Given the description of an element on the screen output the (x, y) to click on. 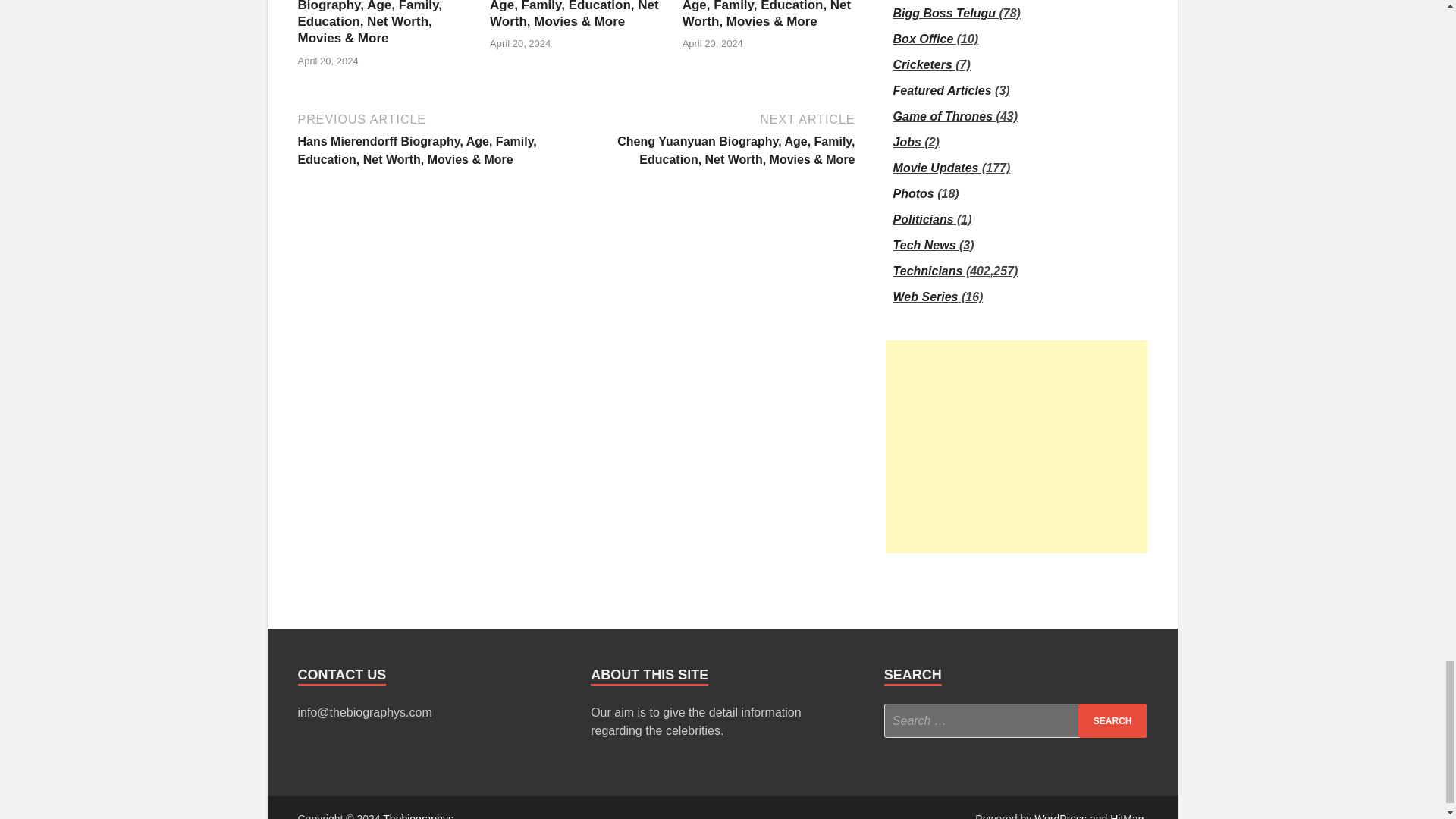
Search (1112, 720)
Search (1112, 720)
